Given the description of an element on the screen output the (x, y) to click on. 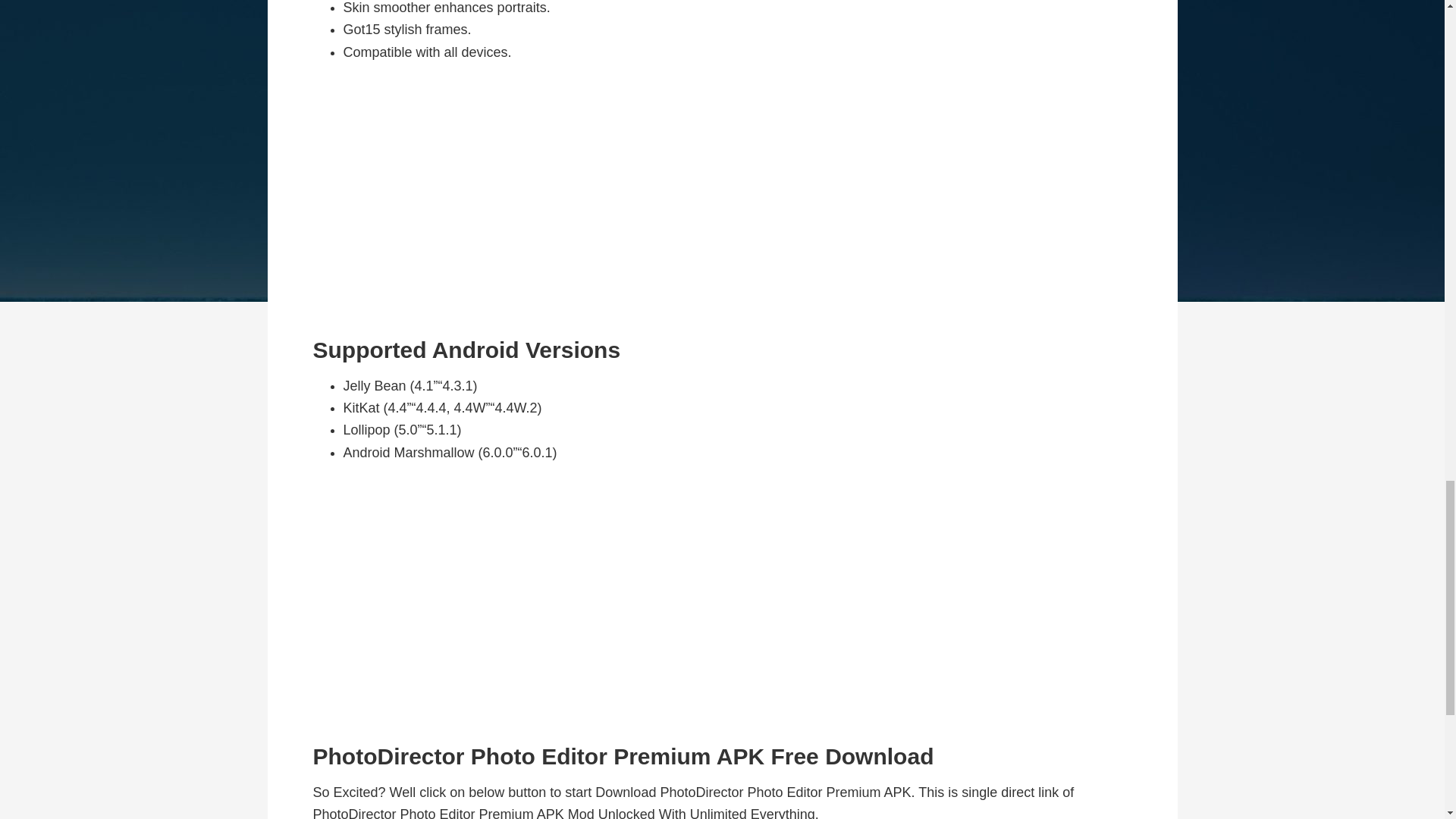
PhotoDirector Photo Editor Premium APK Download For Free (722, 603)
PhotoDirector Photo Editor Premium APK Setup Free Download (722, 200)
